Given the description of an element on the screen output the (x, y) to click on. 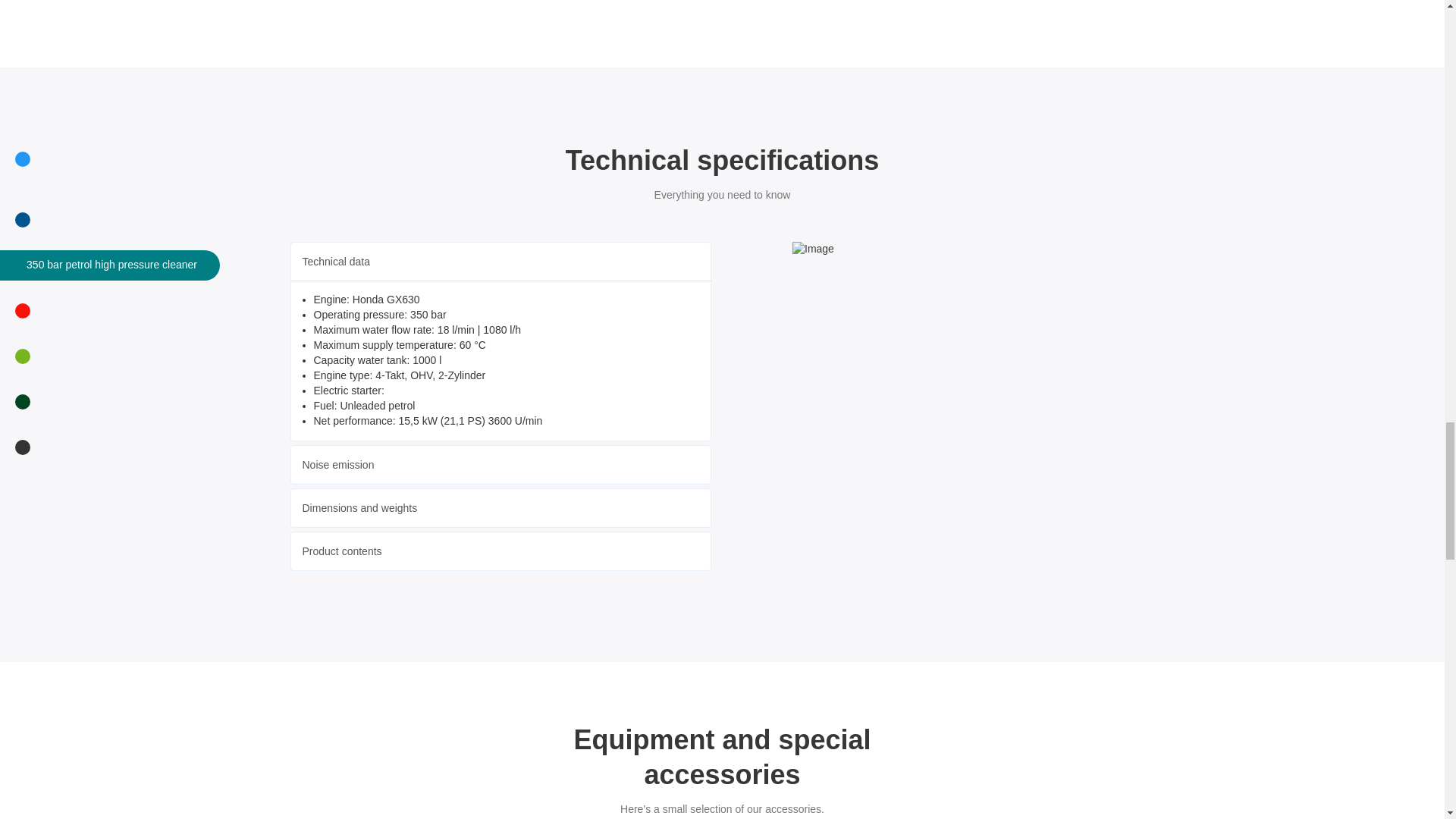
Noise emission (337, 464)
Technical data (335, 261)
Dimensions and weights (358, 508)
Product contents (341, 551)
